Given the description of an element on the screen output the (x, y) to click on. 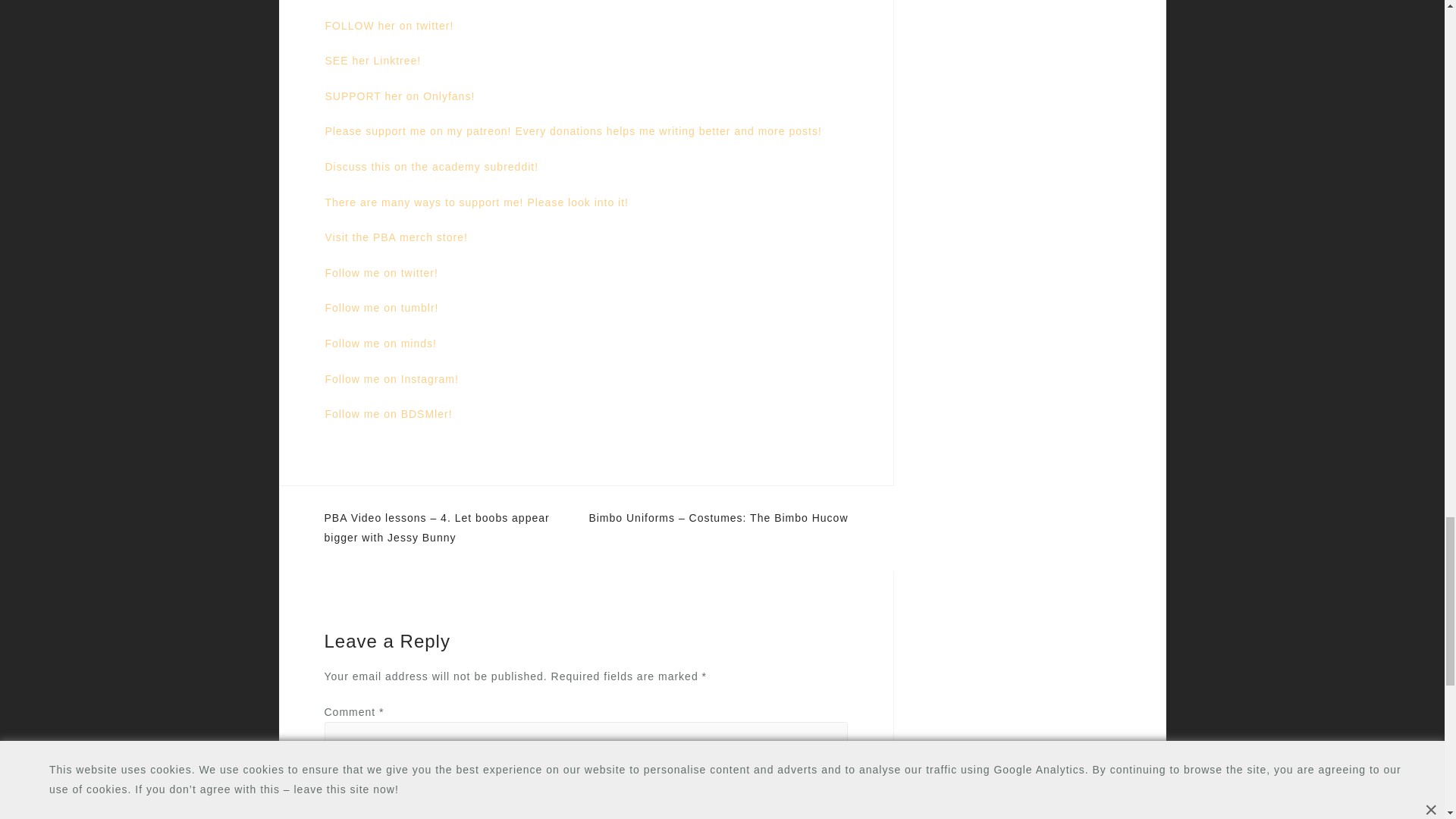
SUPPORT her on Onlyfans! (399, 96)
Follow me on twitter! (381, 272)
Follow me on minds! (379, 343)
SEE her Linktree! (372, 60)
Visit the PBA merch store! (395, 236)
Discuss this on the academy subreddit! (431, 166)
FOLLOW her on twitter! (388, 25)
Follow me on tumblr! (381, 307)
There are many ways to support me! Please look into it! (476, 202)
